Given the description of an element on the screen output the (x, y) to click on. 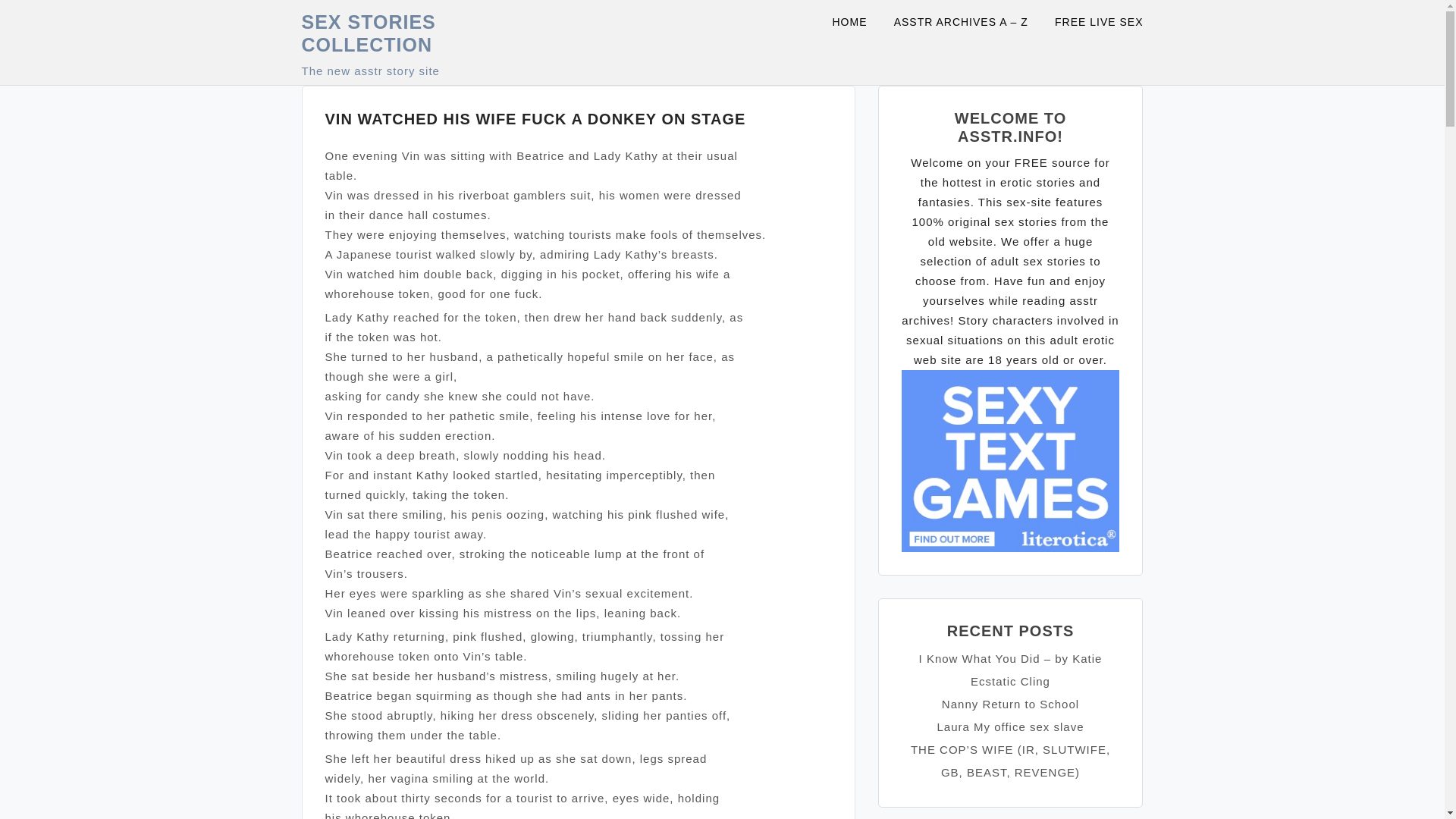
Sex Games (1010, 459)
Ecstatic Cling (1010, 680)
HOME (858, 22)
Nanny Return to School (1010, 703)
SEX STORIES COLLECTION (368, 33)
FREE LIVE SEX (1098, 22)
Laura My office sex slave (1010, 726)
